Given the description of an element on the screen output the (x, y) to click on. 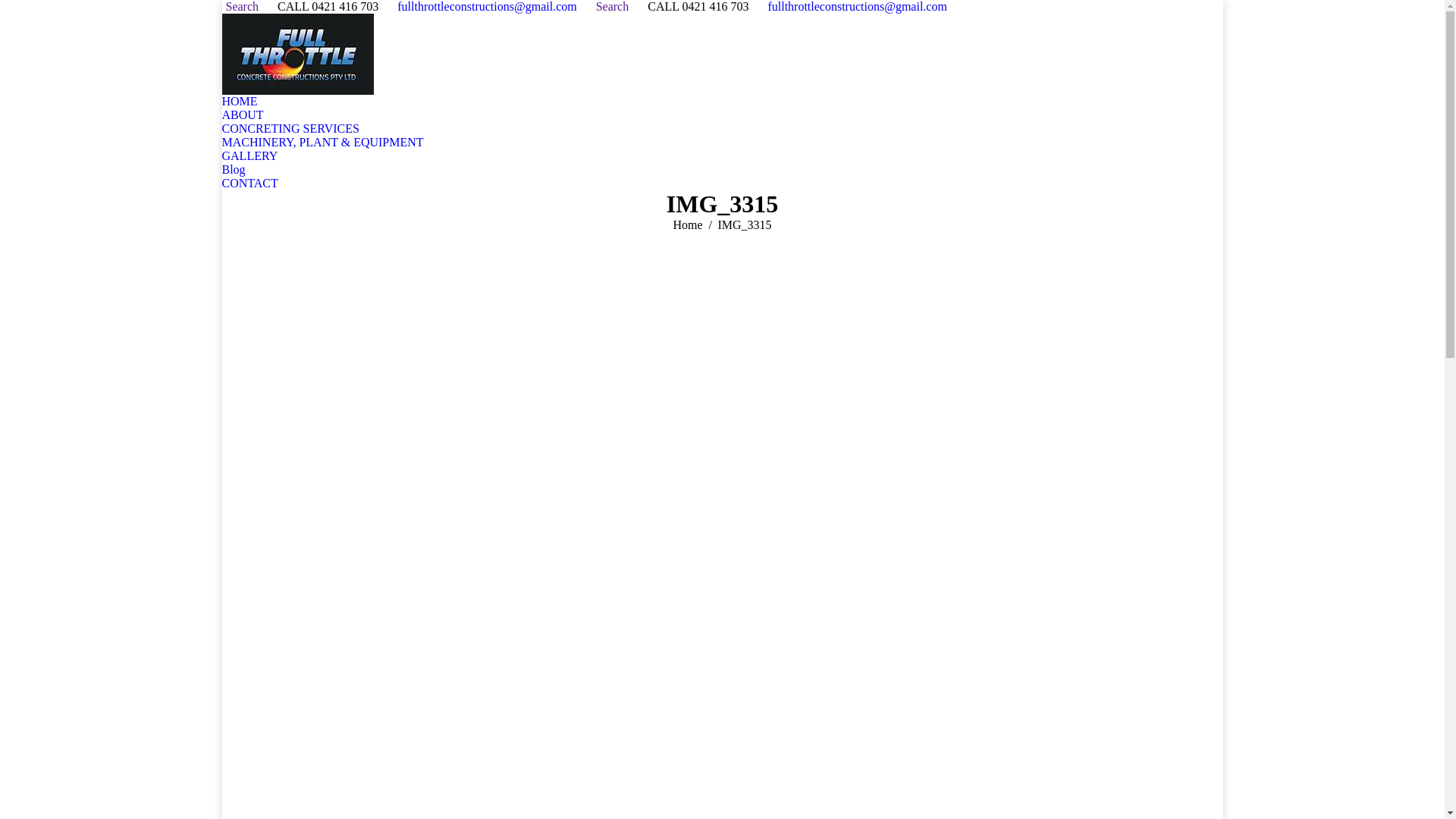
CONTACT Element type: text (249, 183)
CONCRETING SERVICES Element type: text (289, 128)
HOME Element type: text (239, 101)
Search Element type: text (610, 6)
fullthrottleconstructions@gmail.com Element type: text (486, 6)
Home Element type: text (687, 224)
GALLERY Element type: text (249, 156)
Search Element type: text (239, 6)
Blog Element type: text (232, 169)
MACHINERY, PLANT & EQUIPMENT Element type: text (322, 142)
Go! Element type: text (11, 8)
fullthrottleconstructions@gmail.com Element type: text (856, 6)
ABOUT Element type: text (242, 115)
